Given the description of an element on the screen output the (x, y) to click on. 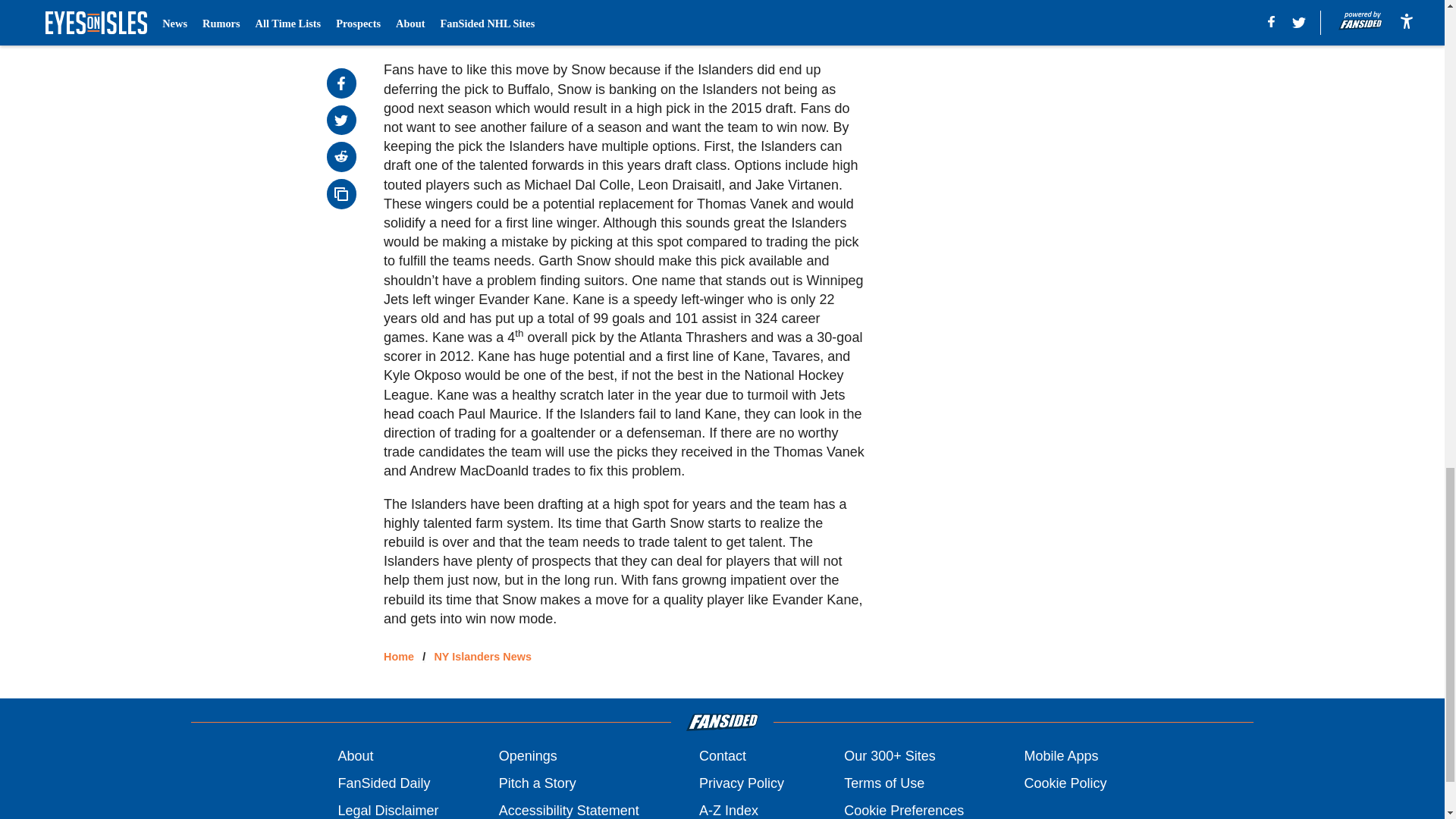
Openings (528, 755)
Home (398, 656)
Mobile Apps (1060, 755)
FanSided Daily (383, 783)
A-Z Index (728, 810)
About (354, 755)
Privacy Policy (741, 783)
Legal Disclaimer (387, 810)
Terms of Use (884, 783)
Accessibility Statement (569, 810)
Pitch a Story (537, 783)
Contact (721, 755)
Cookie Policy (1064, 783)
NY Islanders News (482, 656)
